Given the description of an element on the screen output the (x, y) to click on. 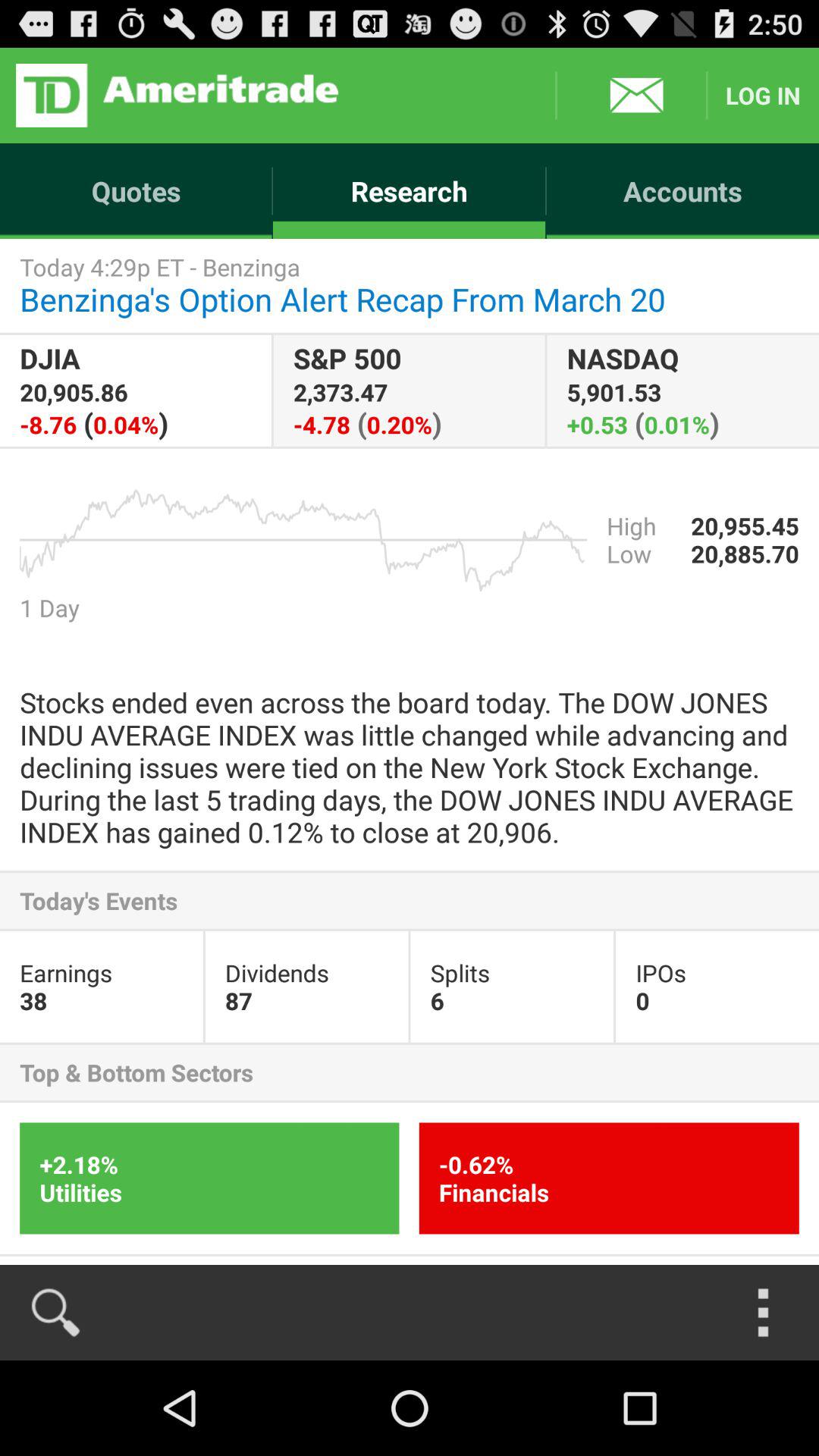
flip to today 4 29p (409, 285)
